Given the description of an element on the screen output the (x, y) to click on. 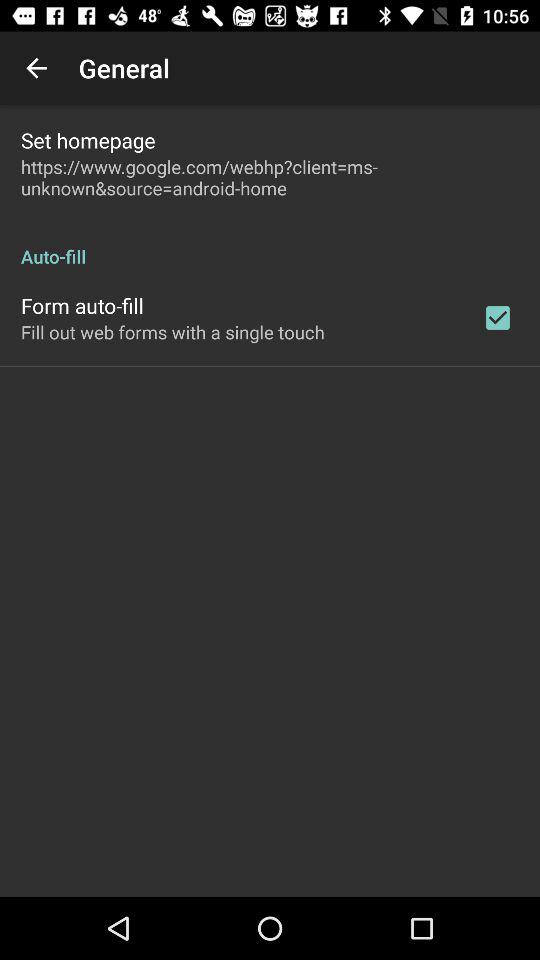
open app below auto-fill (497, 317)
